Given the description of an element on the screen output the (x, y) to click on. 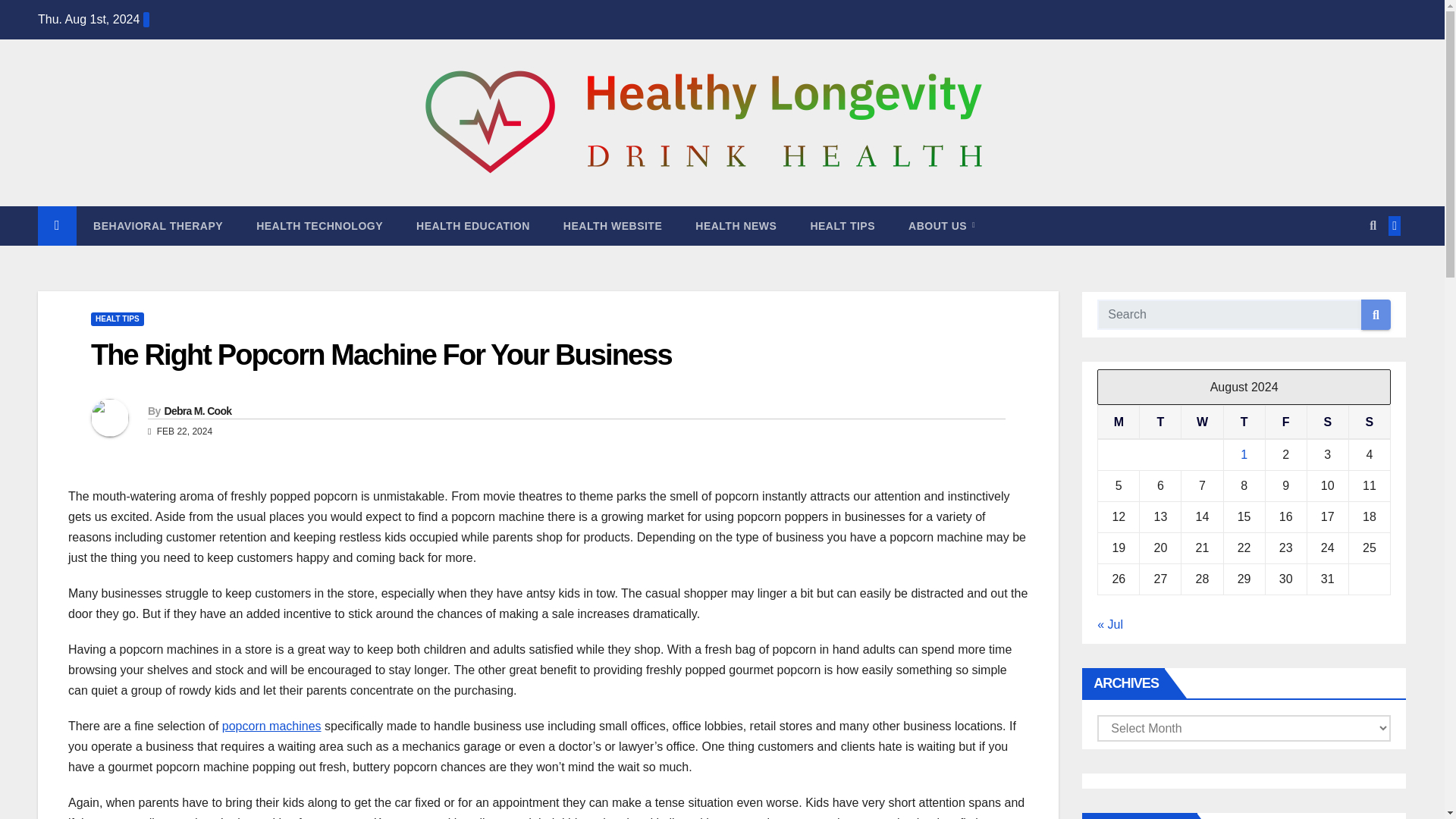
HEALTH TECHNOLOGY (319, 225)
Healt Tips (842, 225)
The Right Popcorn Machine For Your Business (380, 355)
HEALT TIPS (842, 225)
About Us (941, 225)
HEALTH WEBSITE (612, 225)
BEHAVIORAL THERAPY (158, 225)
Health Education (472, 225)
ABOUT US (941, 225)
Health Website (612, 225)
popcorn machines (271, 725)
HEALTH EDUCATION (472, 225)
Permalink to: The Right Popcorn Machine For Your Business (380, 355)
Debra M. Cook (197, 410)
Behavioral Therapy (158, 225)
